Given the description of an element on the screen output the (x, y) to click on. 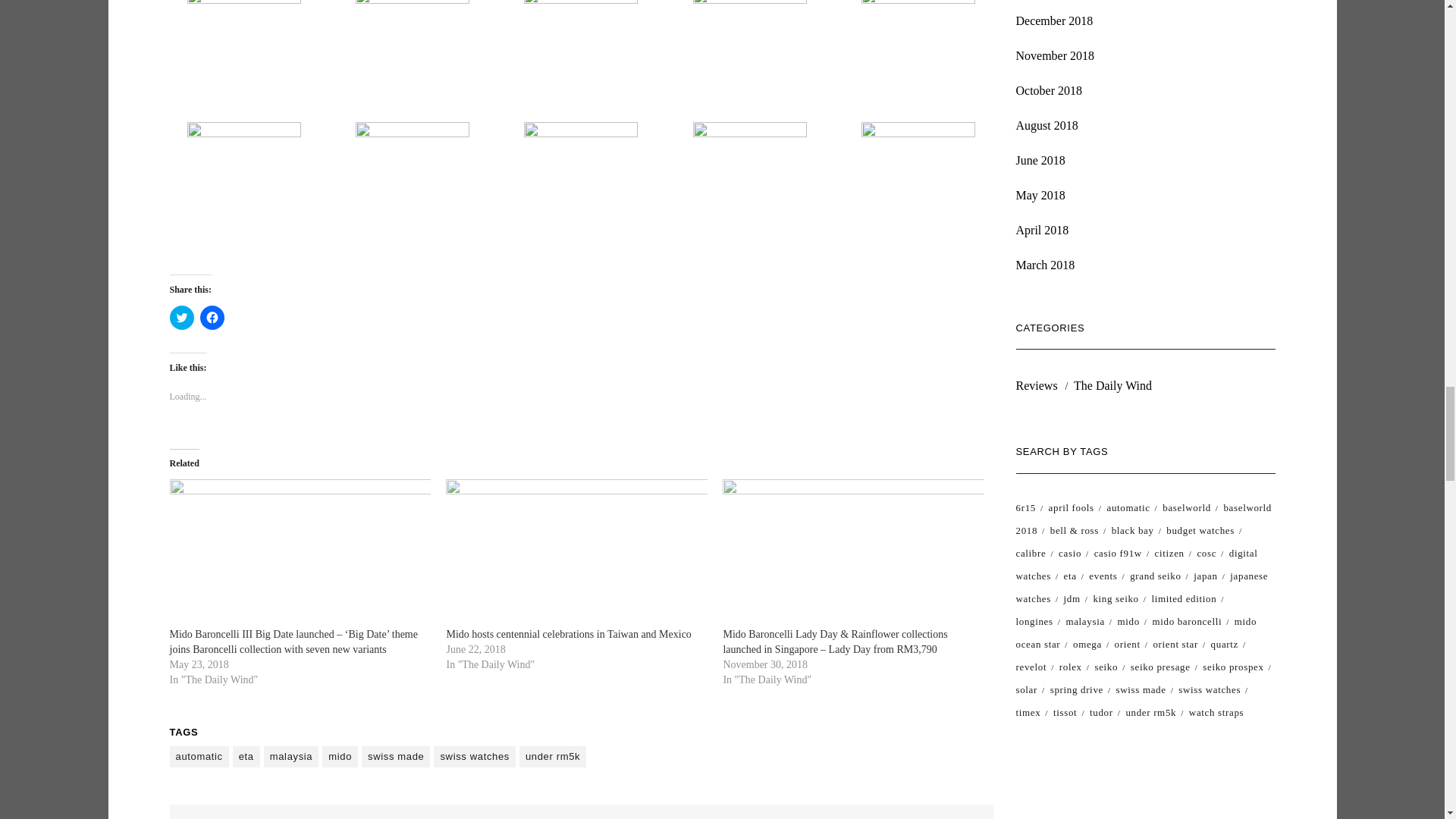
Click to share on Twitter (181, 317)
Click to share on Facebook (212, 317)
Mido hosts centennial celebrations in Taiwan and Mexico (567, 633)
Mido hosts centennial celebrations in Taiwan and Mexico (576, 552)
